Given the description of an element on the screen output the (x, y) to click on. 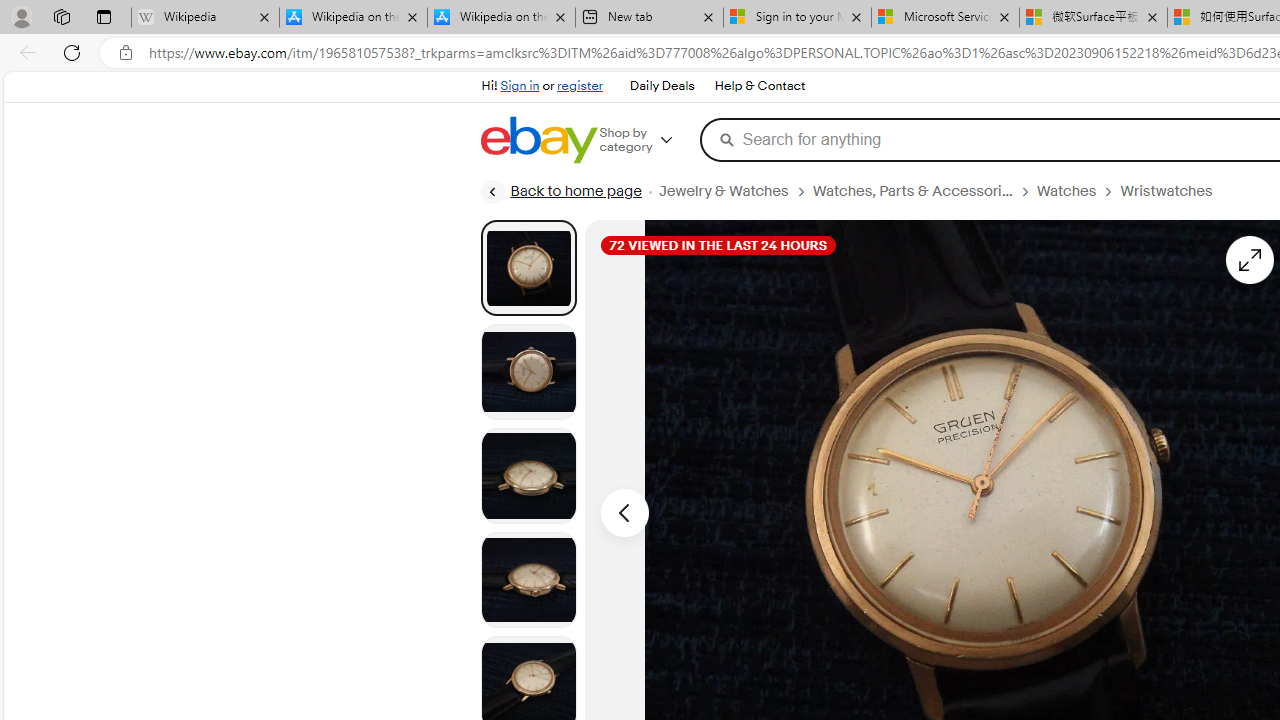
Picture 3 of 8 (528, 475)
Jewelry & Watches (722, 191)
Picture 4 of 8 (528, 579)
Shop by category (649, 140)
Picture 3 of 8 (528, 475)
Picture 2 of 8 (528, 371)
Picture 1 of 8 (528, 268)
Watches, Parts & Accessories (911, 191)
Picture 1 of 8 (528, 267)
Wristwatches (1174, 191)
